Given the description of an element on the screen output the (x, y) to click on. 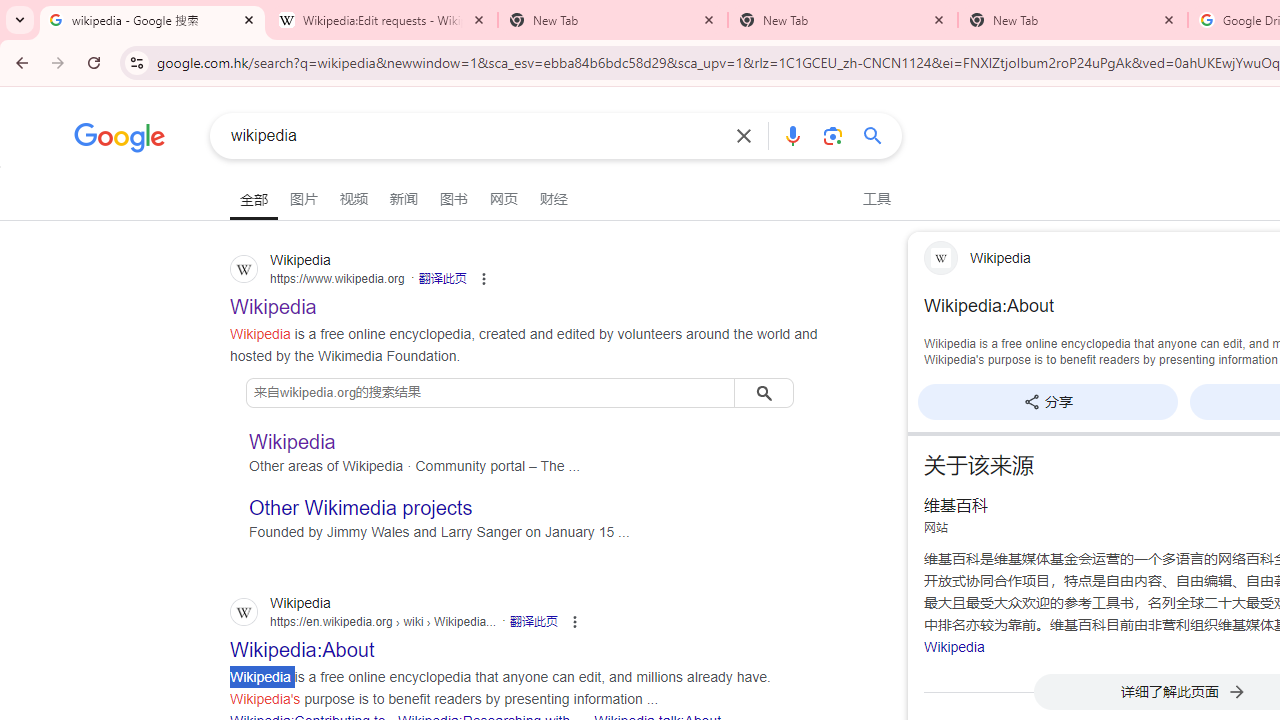
New Tab (842, 20)
